Given the description of an element on the screen output the (x, y) to click on. 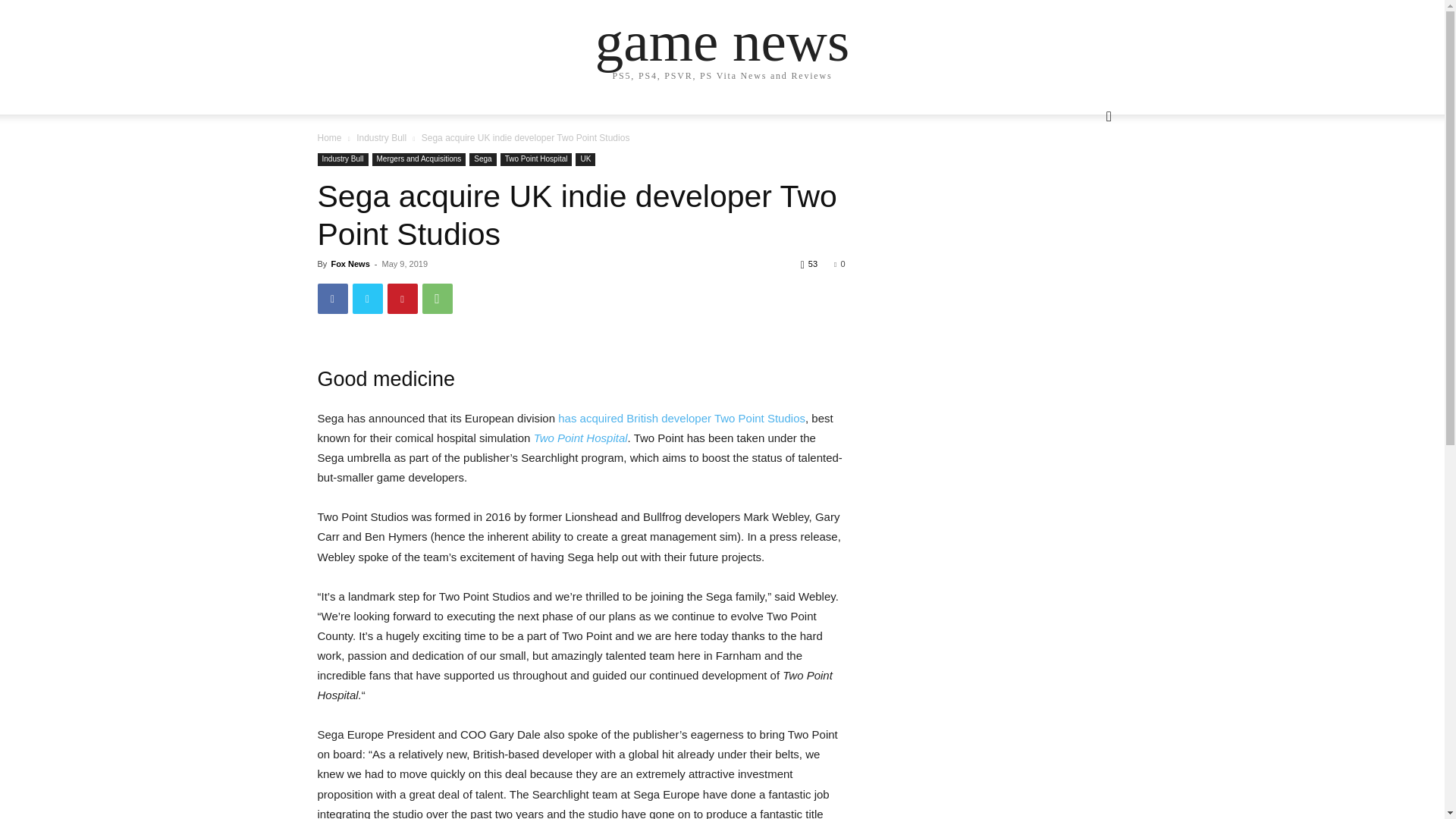
game news (721, 41)
Mergers and Acquisitions (418, 159)
Search (1085, 177)
Pinterest (401, 298)
Industry Bull (342, 159)
Twitter (366, 298)
Industry Bull (381, 137)
has acquired British developer Two Point Studios (681, 418)
Two Point Hospital (580, 437)
Facebook (332, 298)
Two Point Hospital (536, 159)
WhatsApp (436, 298)
0 (839, 263)
View all posts in Industry Bull (381, 137)
Fox News (349, 263)
